Given the description of an element on the screen output the (x, y) to click on. 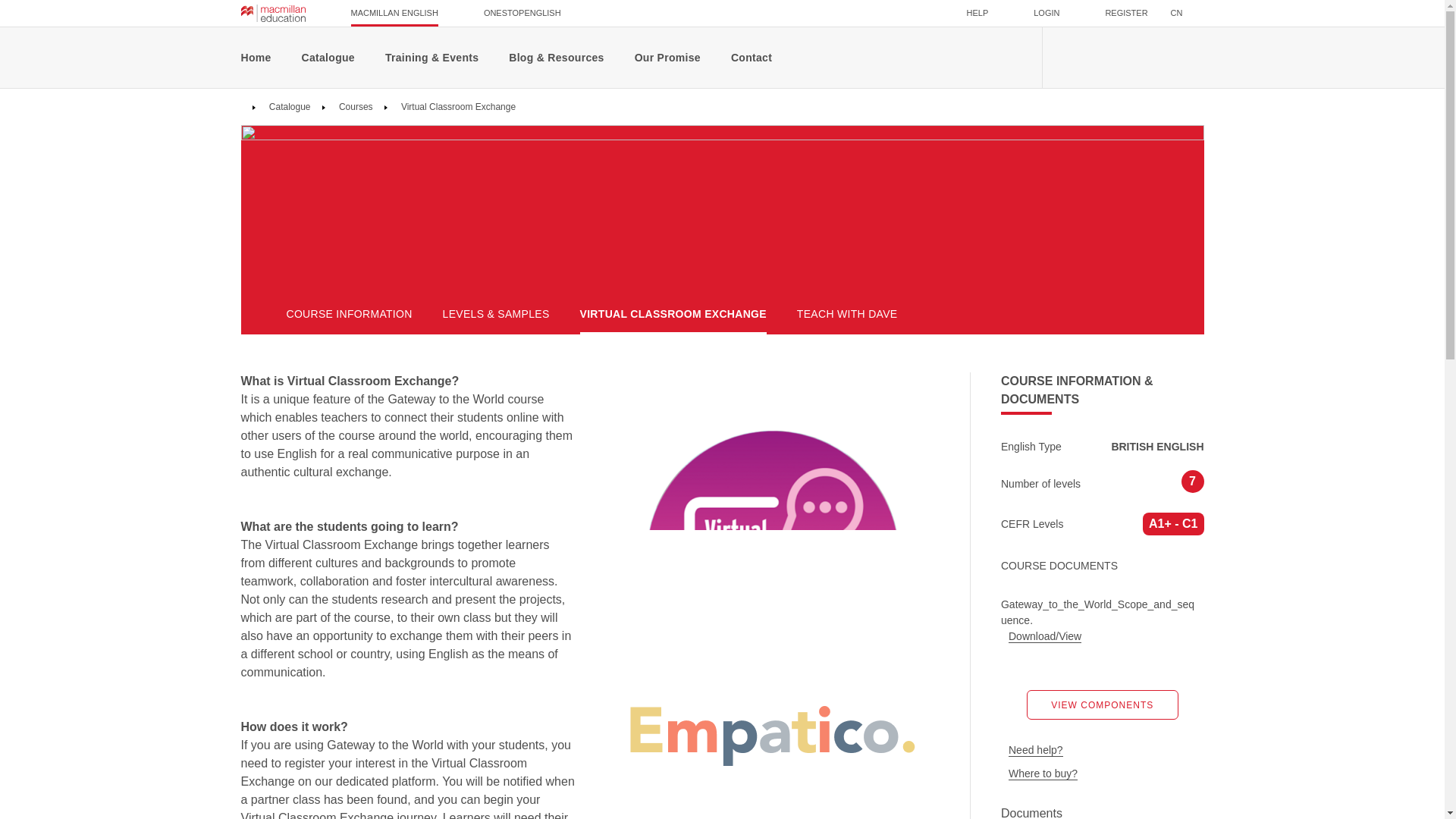
ONESTOPENGLISH (521, 13)
Virtual Classroom Exchange (457, 106)
TEACH WITH DAVE (847, 314)
VIRTUAL CLASSROOM EXCHANGE (673, 314)
VIEW COMPONENTS (1101, 704)
Virtual Classroom Exchange (457, 106)
Courses (354, 106)
MACMILLAN ENGLISH (394, 13)
REGISTER (1126, 13)
Catalogue (288, 106)
Macmillan English Home page (273, 12)
Courses (354, 106)
Our Promise (667, 57)
COURSE INFORMATION (348, 314)
LOGIN (1046, 13)
